Given the description of an element on the screen output the (x, y) to click on. 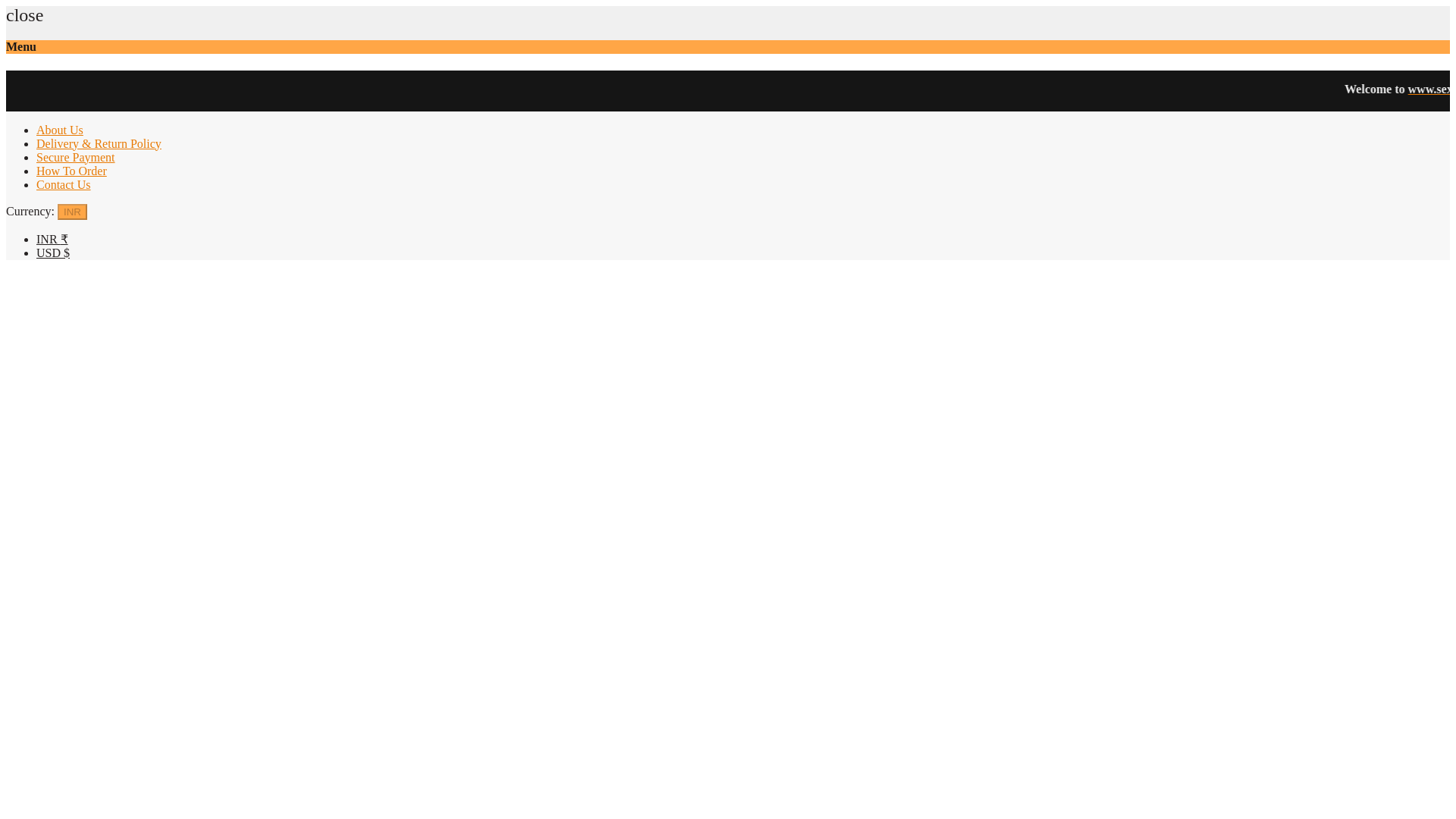
How To Order (71, 170)
Contact Us (63, 184)
Secure Payment (75, 156)
Indian Rupee (52, 238)
About Us (59, 129)
INR (72, 211)
